Given the description of an element on the screen output the (x, y) to click on. 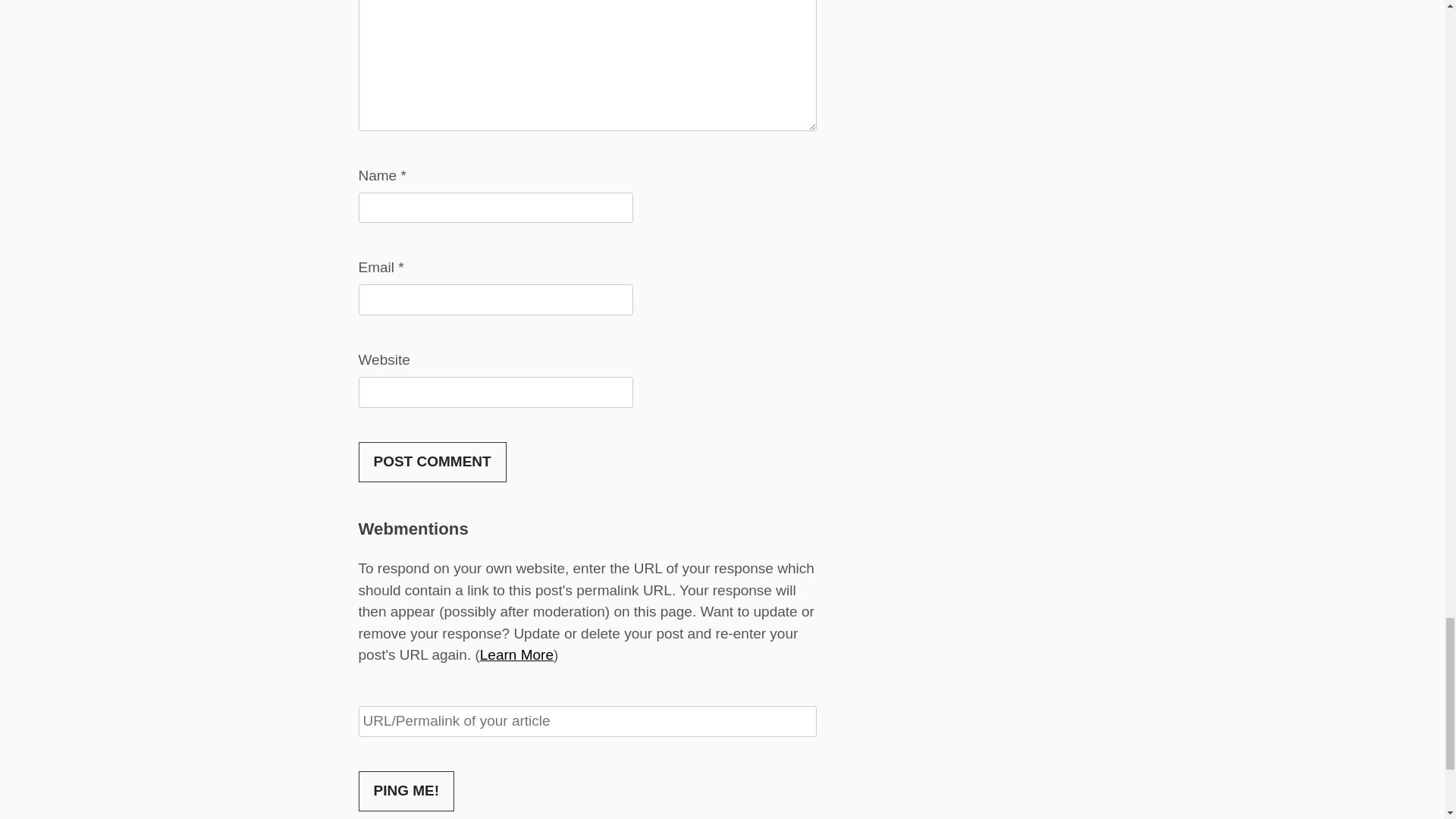
Post Comment (431, 462)
Post Comment (431, 462)
Ping me! (406, 791)
Learn More (516, 654)
Ping me! (406, 791)
